Given the description of an element on the screen output the (x, y) to click on. 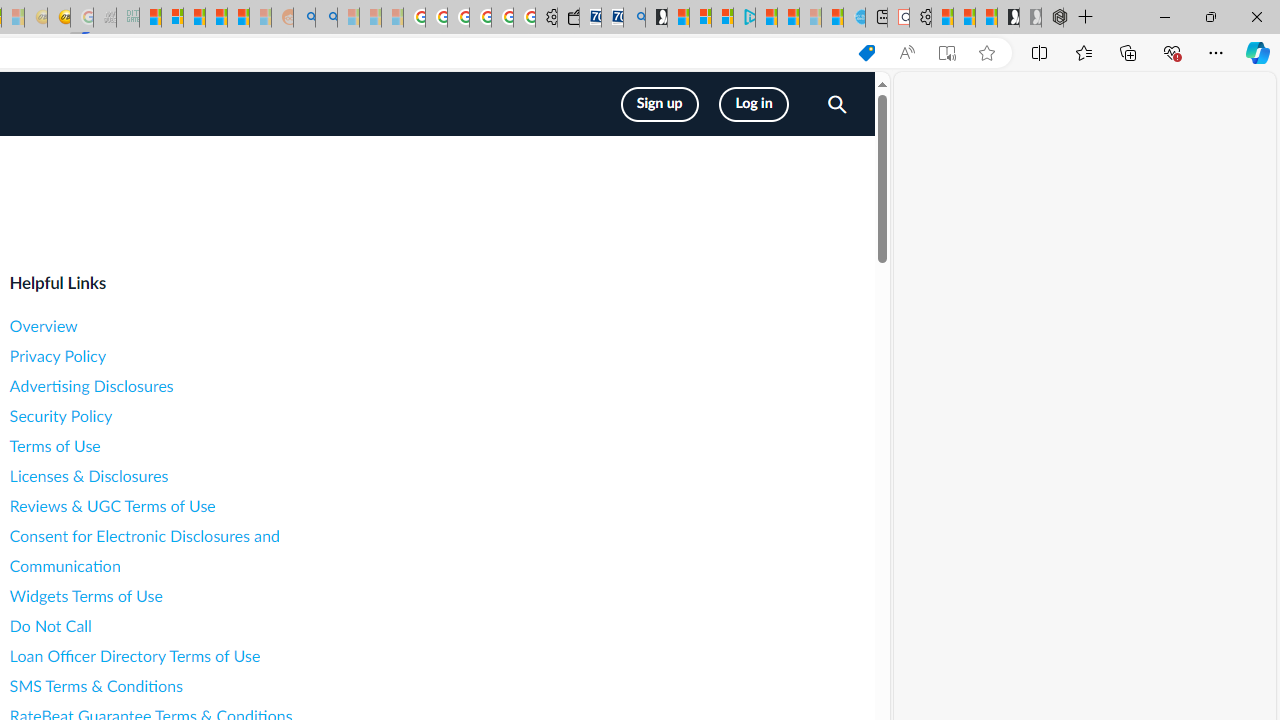
Privacy Policy (188, 356)
Licenses & Disclosures (188, 475)
Overview (188, 326)
